Given the description of an element on the screen output the (x, y) to click on. 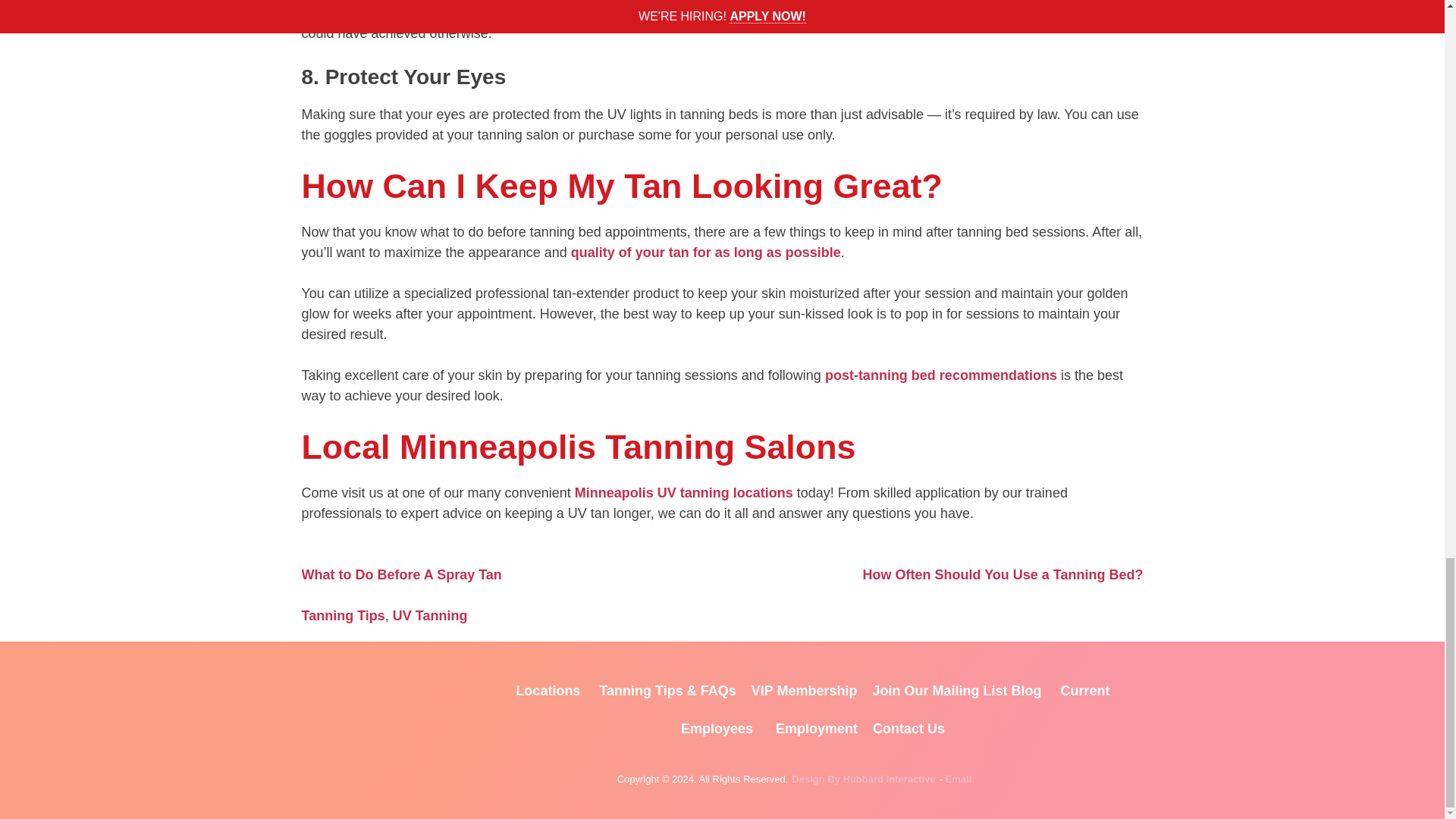
UV Tanning (430, 615)
Minneapolis UV tanning locations (684, 492)
What to Do Before A Spray Tan (401, 574)
Current Employees (895, 709)
Join Our Mailing List (939, 690)
Tanning Tips (343, 615)
VIP Membership (804, 690)
Blog (1026, 690)
post-tanning bed recommendations (941, 375)
Locations (547, 690)
